Given the description of an element on the screen output the (x, y) to click on. 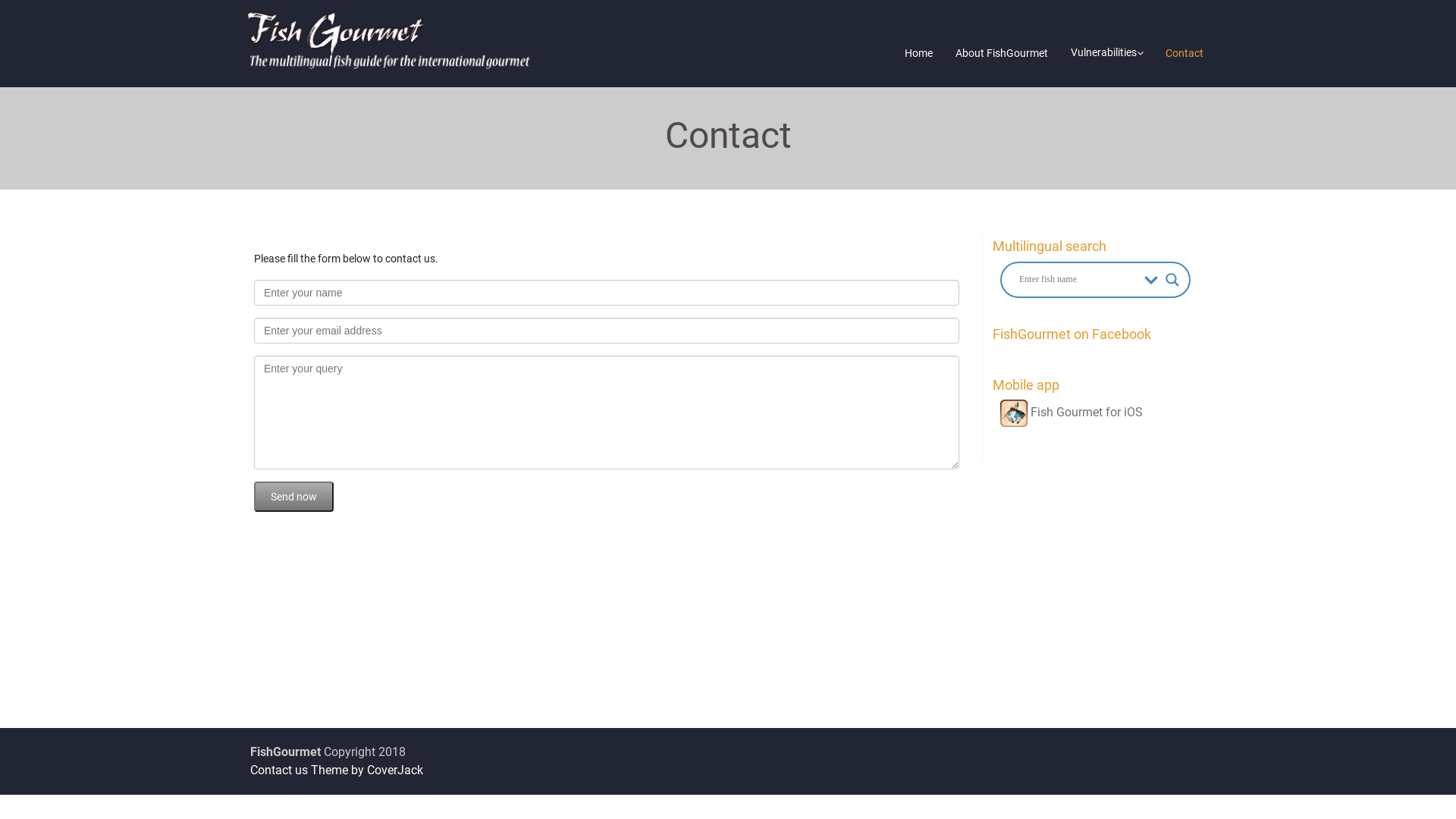
Home Element type: text (919, 52)
Vulnerabilities Element type: text (1106, 52)
Contact us Element type: text (278, 769)
About FishGourmet Element type: text (1001, 52)
Theme by CoverJack Element type: text (366, 769)
Fish Gourmet for iOS Element type: text (1071, 411)
Send now Element type: text (293, 496)
Contact Element type: text (1184, 52)
